Given the description of an element on the screen output the (x, y) to click on. 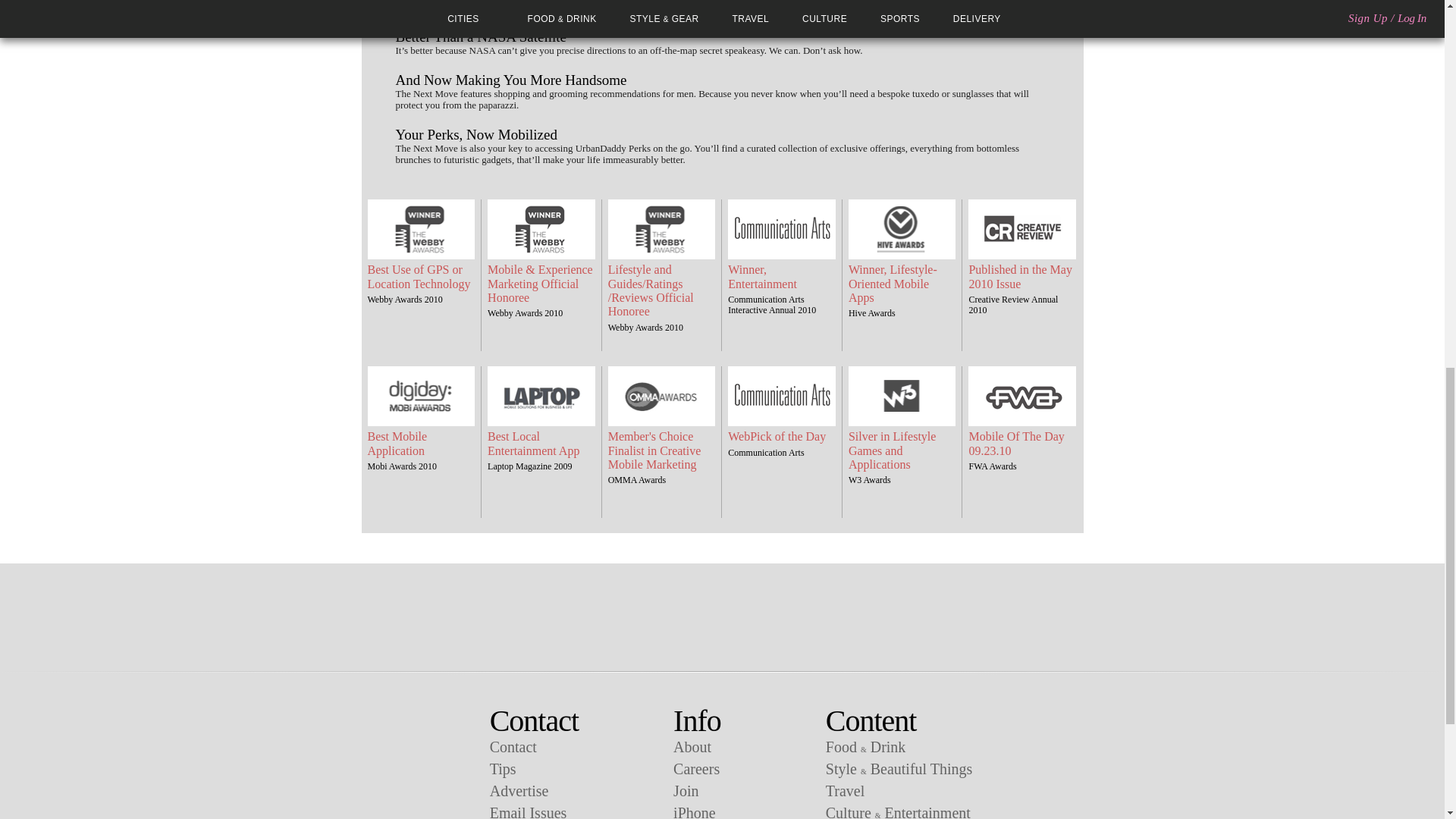
Best Use of GPS or Location Technology (420, 276)
Winner, Lifestyle-Oriented Mobile Apps (902, 283)
Best Local Entertainment App (541, 443)
Winner, Entertainment (781, 276)
Best Mobile Application (420, 443)
Published in the May 2010 Issue (1022, 276)
Member's Choice Finalist in Creative Mobile Marketing (662, 450)
